Given the description of an element on the screen output the (x, y) to click on. 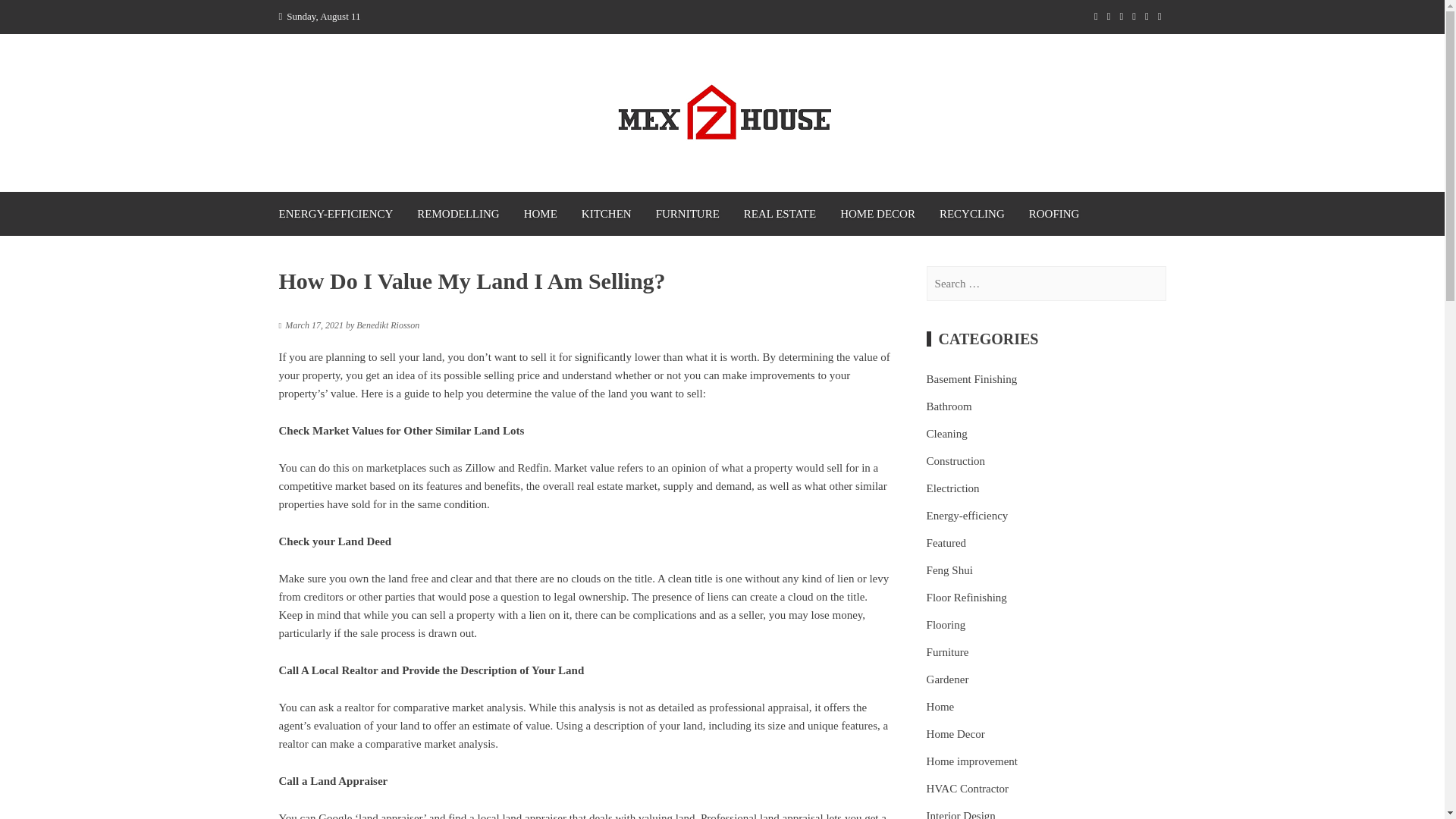
Home (940, 706)
REMODELLING (457, 213)
Floor Refinishing (966, 597)
Electriction (952, 488)
Interior Design (960, 812)
Home Decor (955, 733)
Energy-efficiency (967, 515)
HVAC Contractor (967, 788)
HOME DECOR (877, 213)
Featured (946, 542)
